Given the description of an element on the screen output the (x, y) to click on. 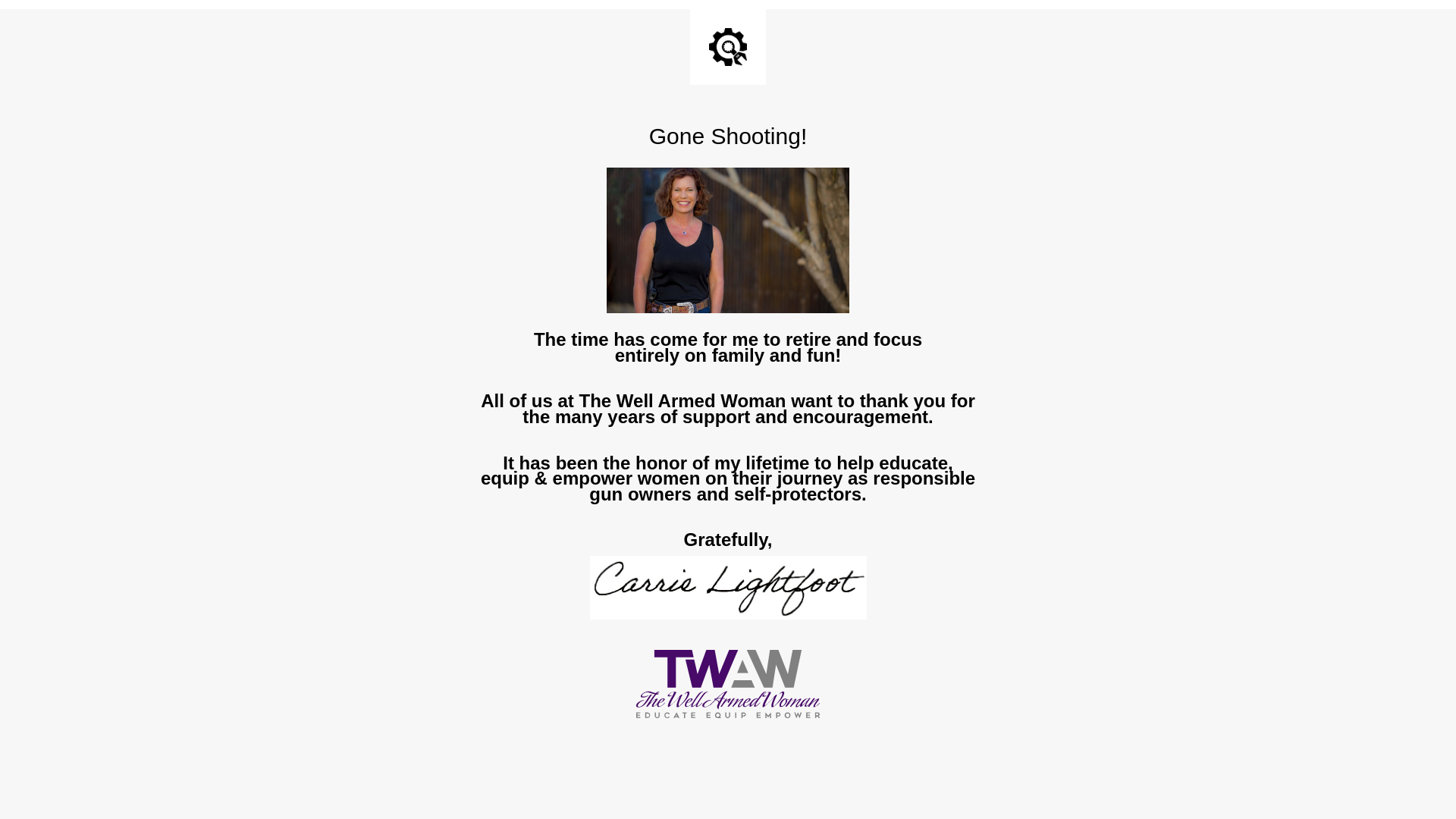
Site is Under Construction (727, 46)
